Given the description of an element on the screen output the (x, y) to click on. 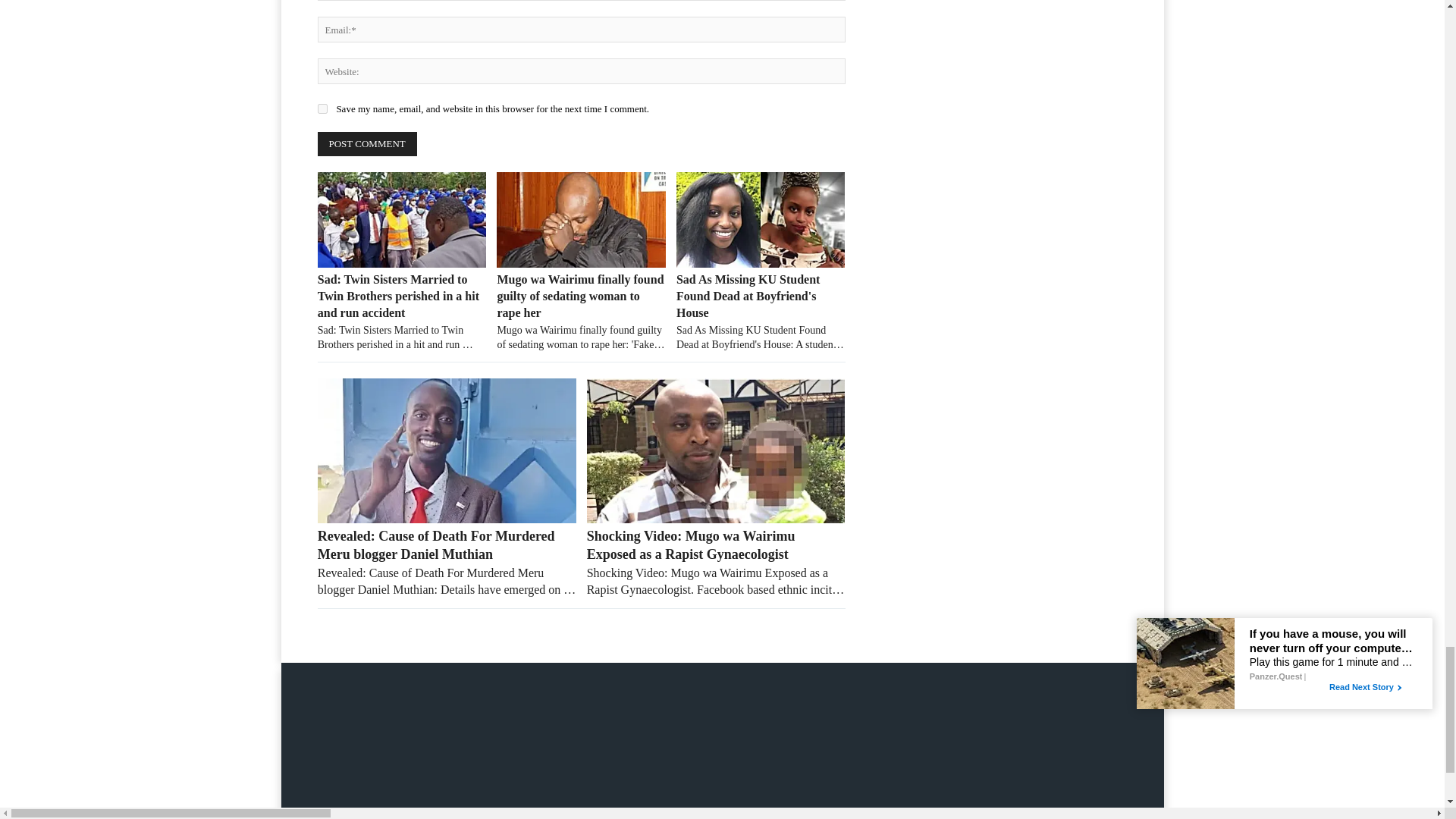
Post Comment (366, 143)
yes (321, 108)
